Given the description of an element on the screen output the (x, y) to click on. 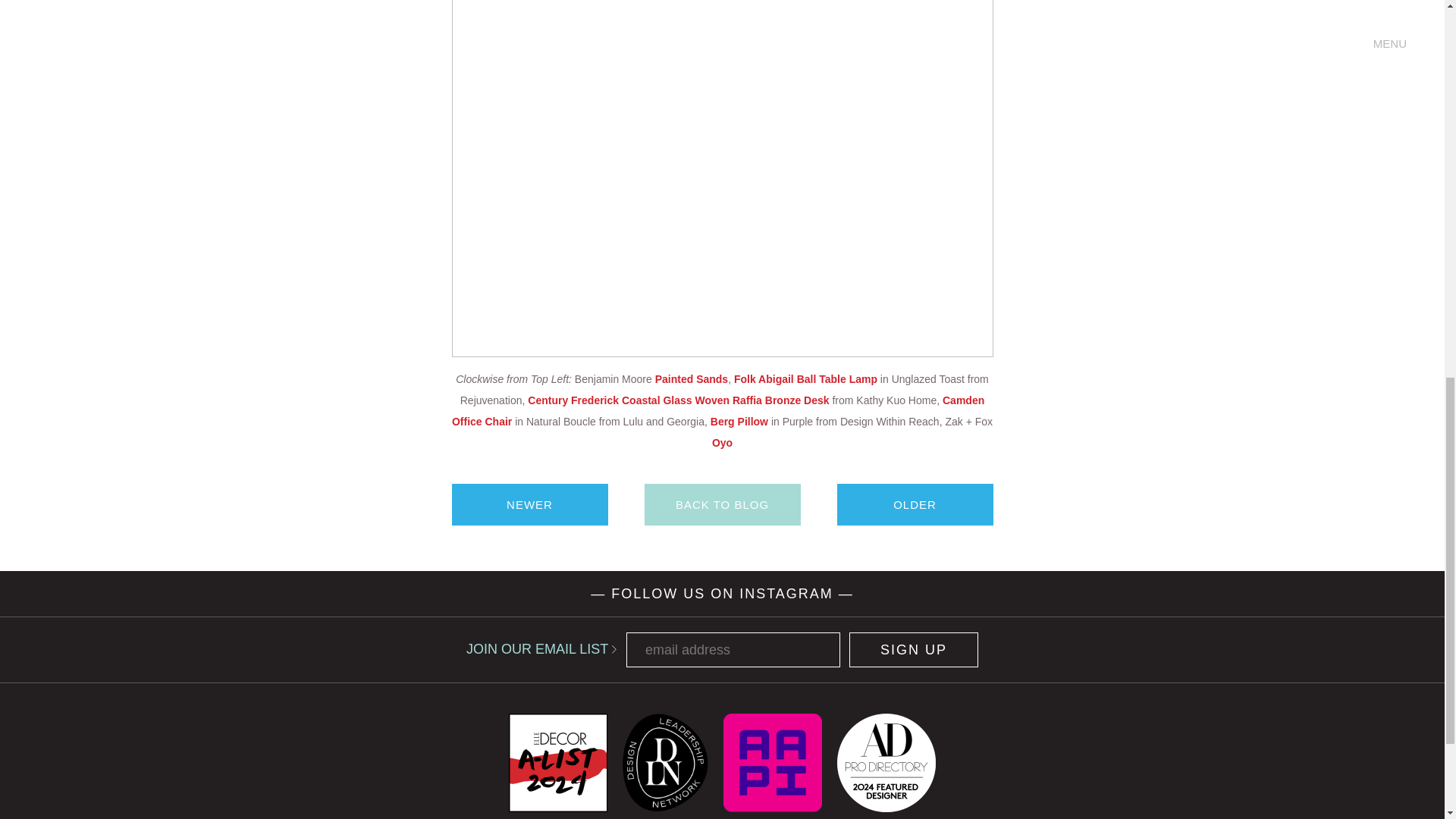
BACK TO BLOG (722, 504)
OLDER (914, 504)
NEWER (529, 504)
Oyo (721, 442)
Folk Abigail Ball Table Lamp (805, 378)
Painted Sands (691, 378)
Century Frederick Coastal Glass Woven Raffia Bronze Desk (677, 399)
Camden Office Chair (717, 410)
Berg Pillow (739, 421)
email (733, 649)
